Given the description of an element on the screen output the (x, y) to click on. 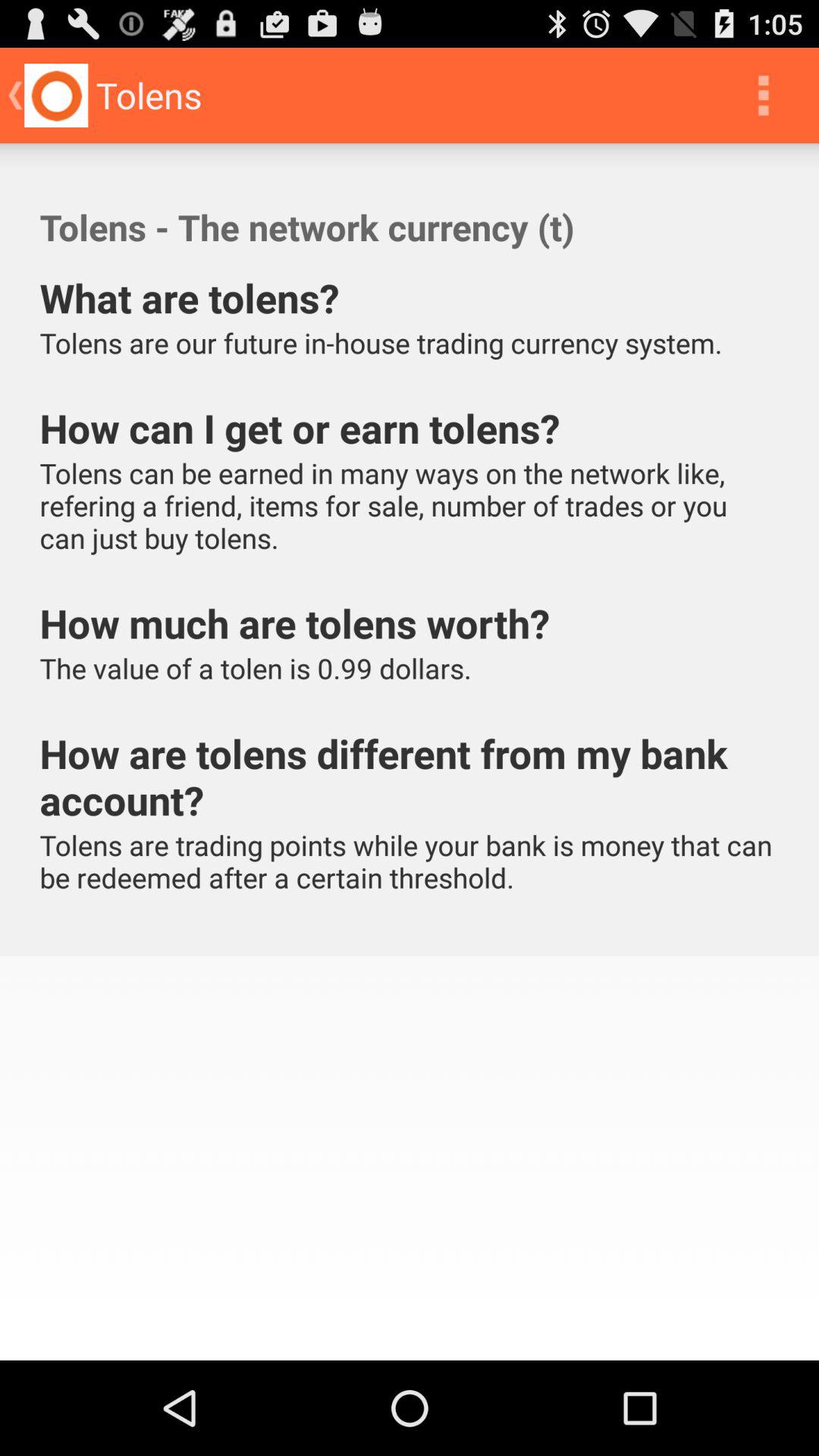
turn on item at the top right corner (763, 95)
